Given the description of an element on the screen output the (x, y) to click on. 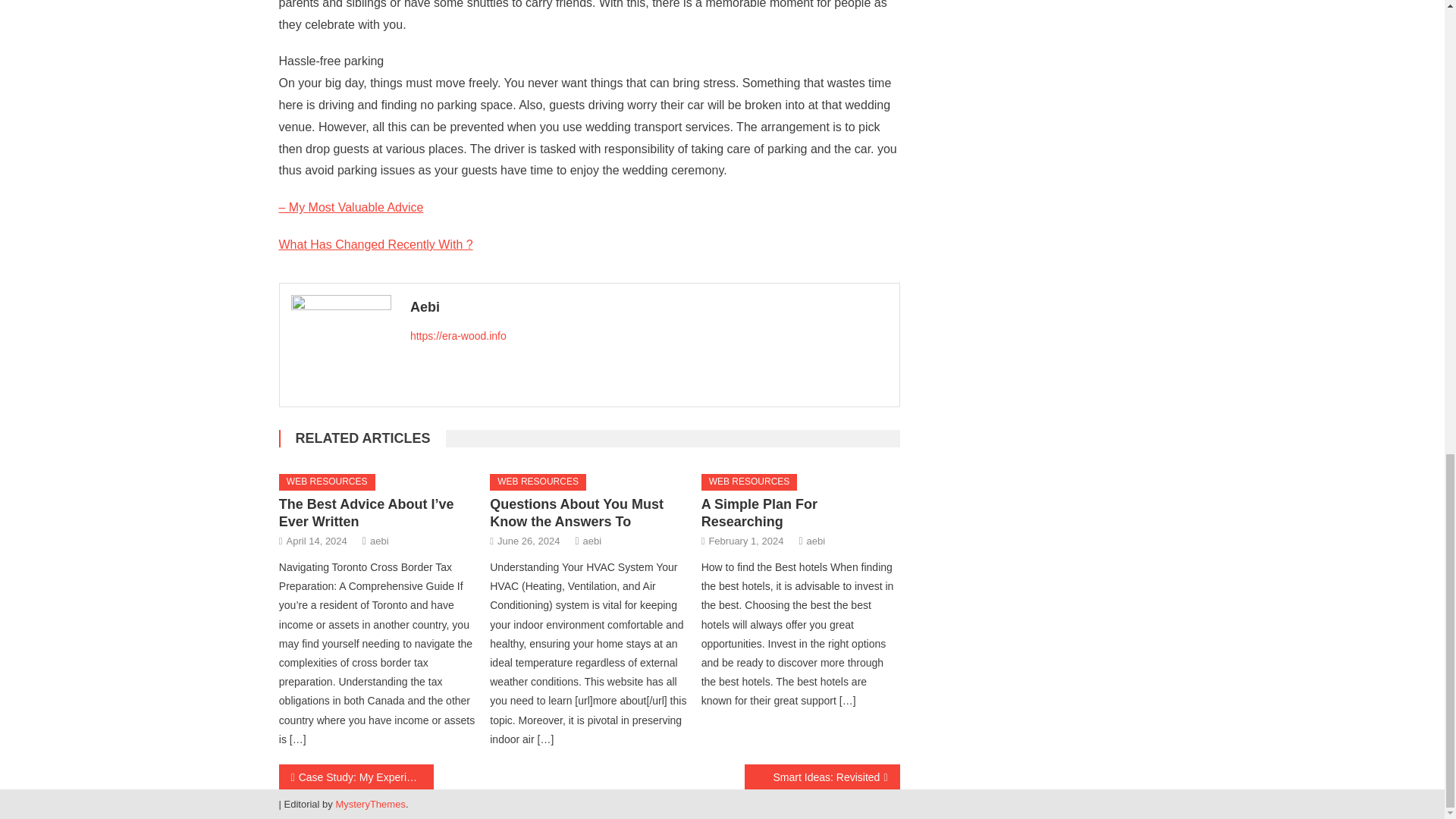
aebi (378, 540)
Case Study: My Experience With (356, 776)
What Has Changed Recently With ? (376, 244)
WEB RESOURCES (537, 482)
June 26, 2024 (528, 540)
April 14, 2024 (316, 540)
Aebi (649, 306)
WEB RESOURCES (749, 482)
aebi (592, 540)
Smart Ideas: Revisited (821, 776)
A Simple Plan For Researching (758, 512)
WEB RESOURCES (327, 482)
aebi (815, 540)
Questions About You Must Know the Answers To (576, 512)
February 1, 2024 (745, 540)
